Given the description of an element on the screen output the (x, y) to click on. 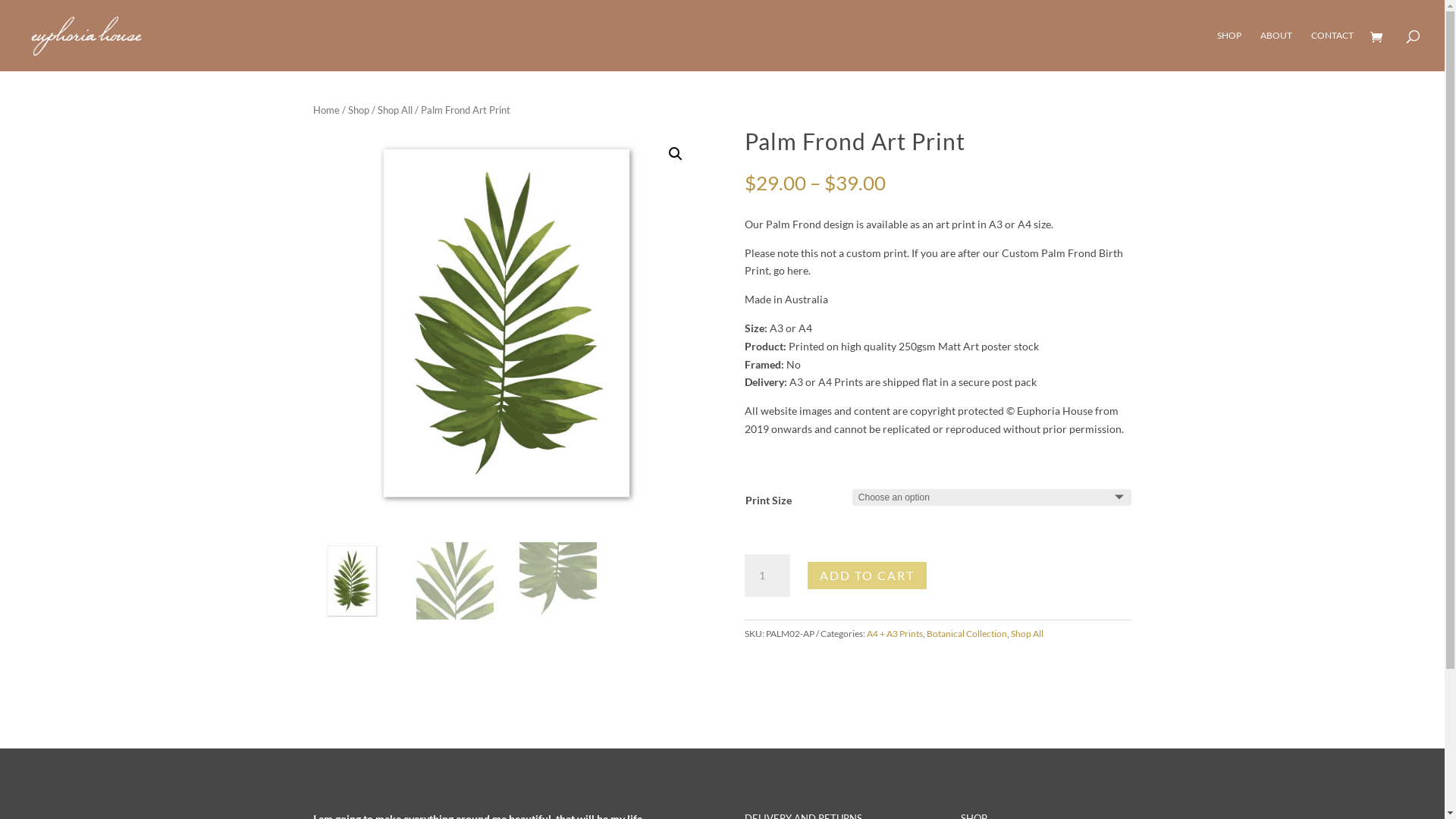
Shop Element type: text (357, 109)
ABOUT Element type: text (1276, 50)
here Element type: text (797, 269)
Botanical Collection Element type: text (966, 633)
Shop All Element type: text (394, 109)
A4 + A3 Prints Element type: text (894, 633)
SHOP Element type: text (1229, 50)
ADD TO CART Element type: text (866, 575)
palm-frond-art-print-a4-a3 Element type: hover (505, 322)
Home Element type: text (325, 109)
Shop All Element type: text (1026, 633)
CONTACT Element type: text (1332, 50)
